Given the description of an element on the screen output the (x, y) to click on. 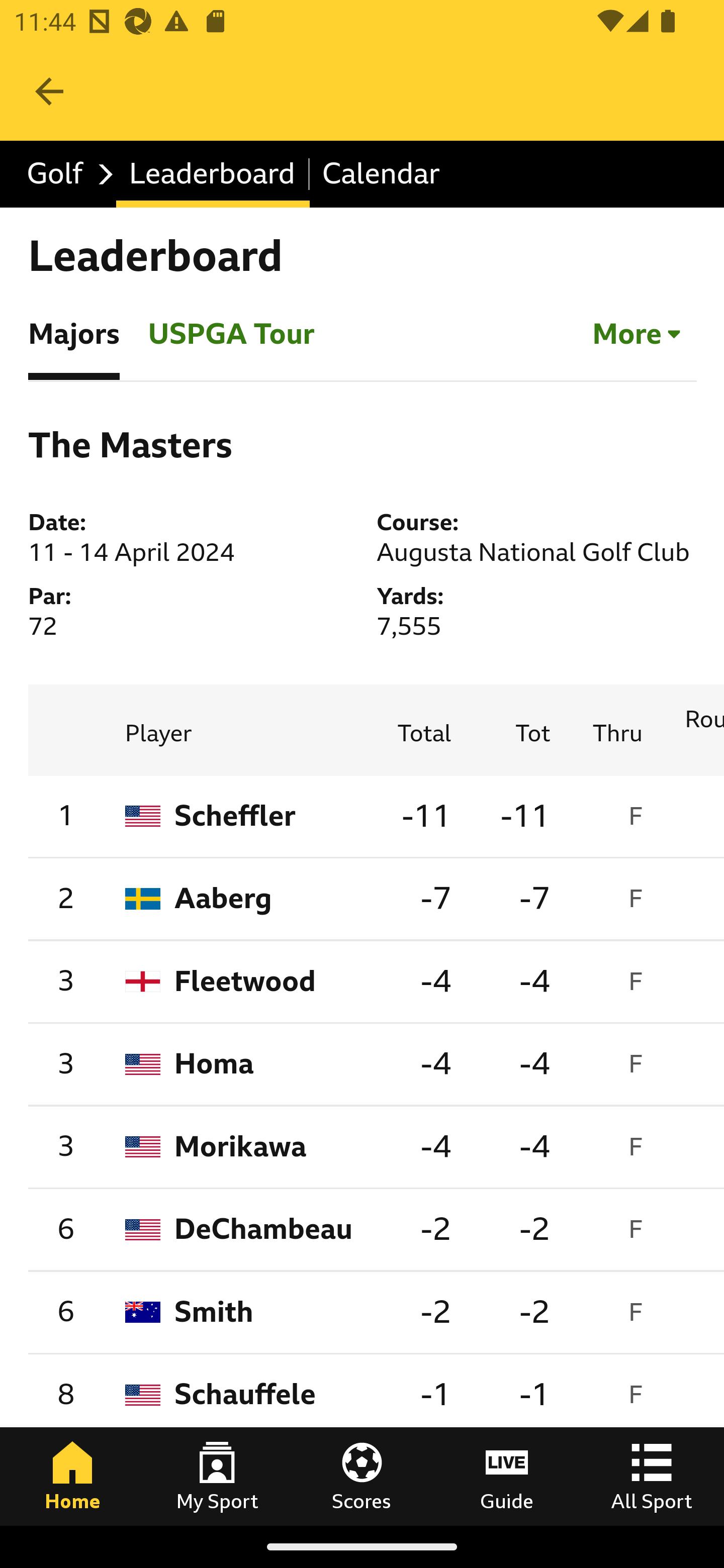
Navigate up (49, 91)
Golf (65, 173)
Leaderboard (213, 173)
Calendar (380, 173)
Filter by section. Currently selected: Majors (637, 333)
My Sport (216, 1475)
Scores (361, 1475)
Guide (506, 1475)
All Sport (651, 1475)
